Given the description of an element on the screen output the (x, y) to click on. 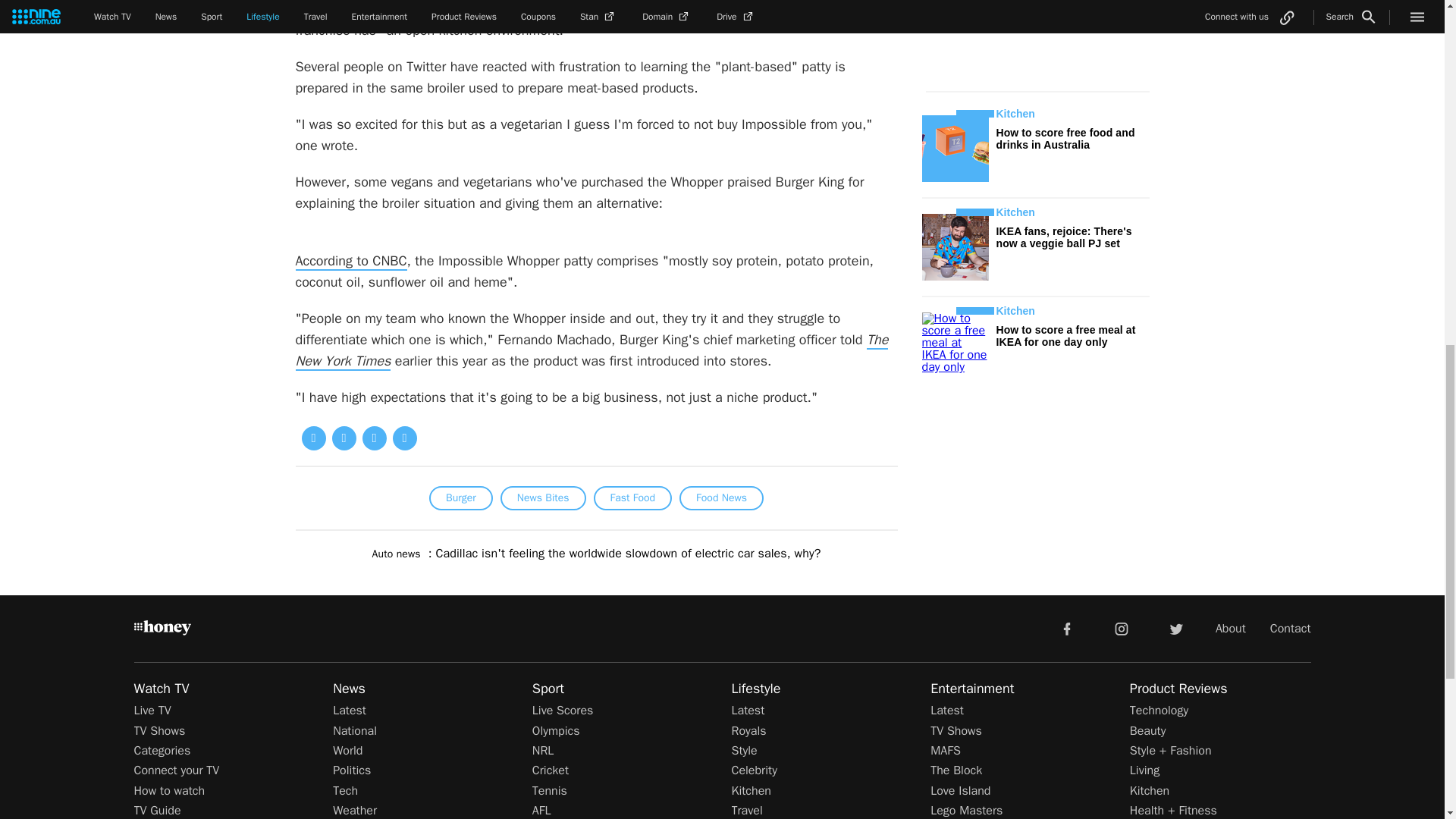
instagram (1121, 627)
facebook (1066, 627)
According to CNBC (351, 261)
The New York Times. (591, 351)
twitter (1175, 627)
The New York Times (591, 351)
According to CNBC (351, 261)
